Given the description of an element on the screen output the (x, y) to click on. 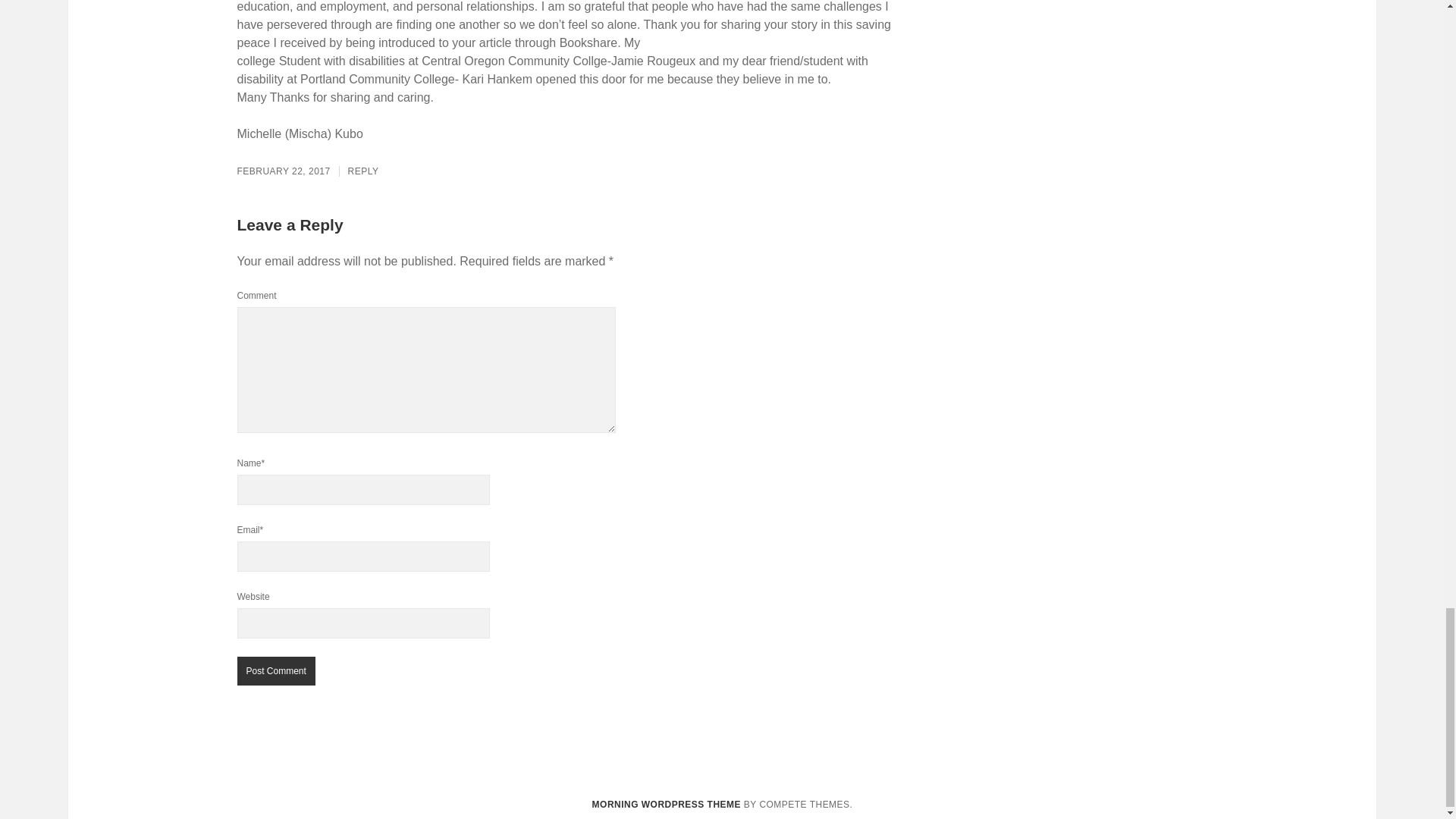
REPLY (362, 171)
Post Comment (274, 670)
